Given the description of an element on the screen output the (x, y) to click on. 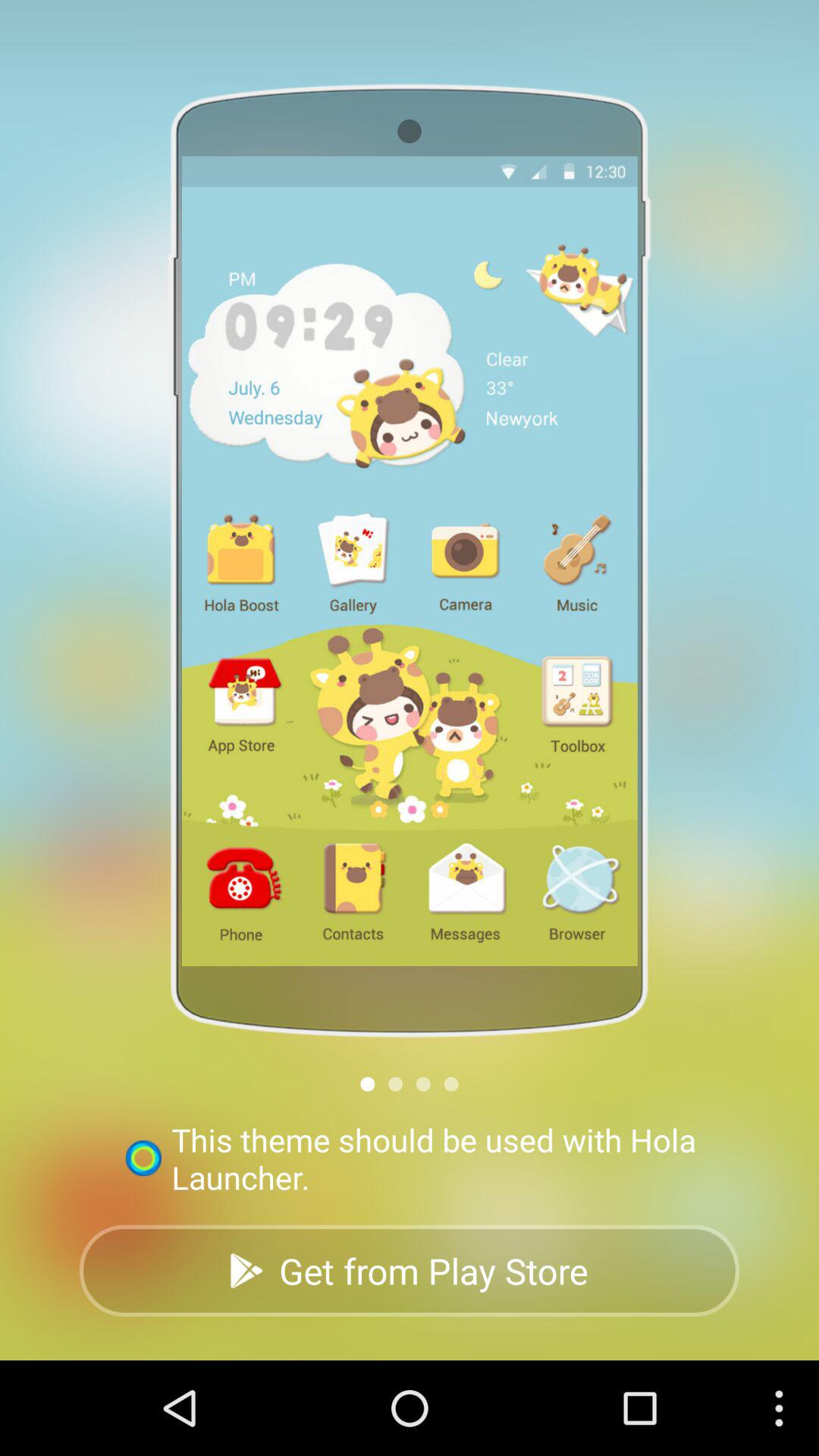
press icon above this theme should (451, 1084)
